Given the description of an element on the screen output the (x, y) to click on. 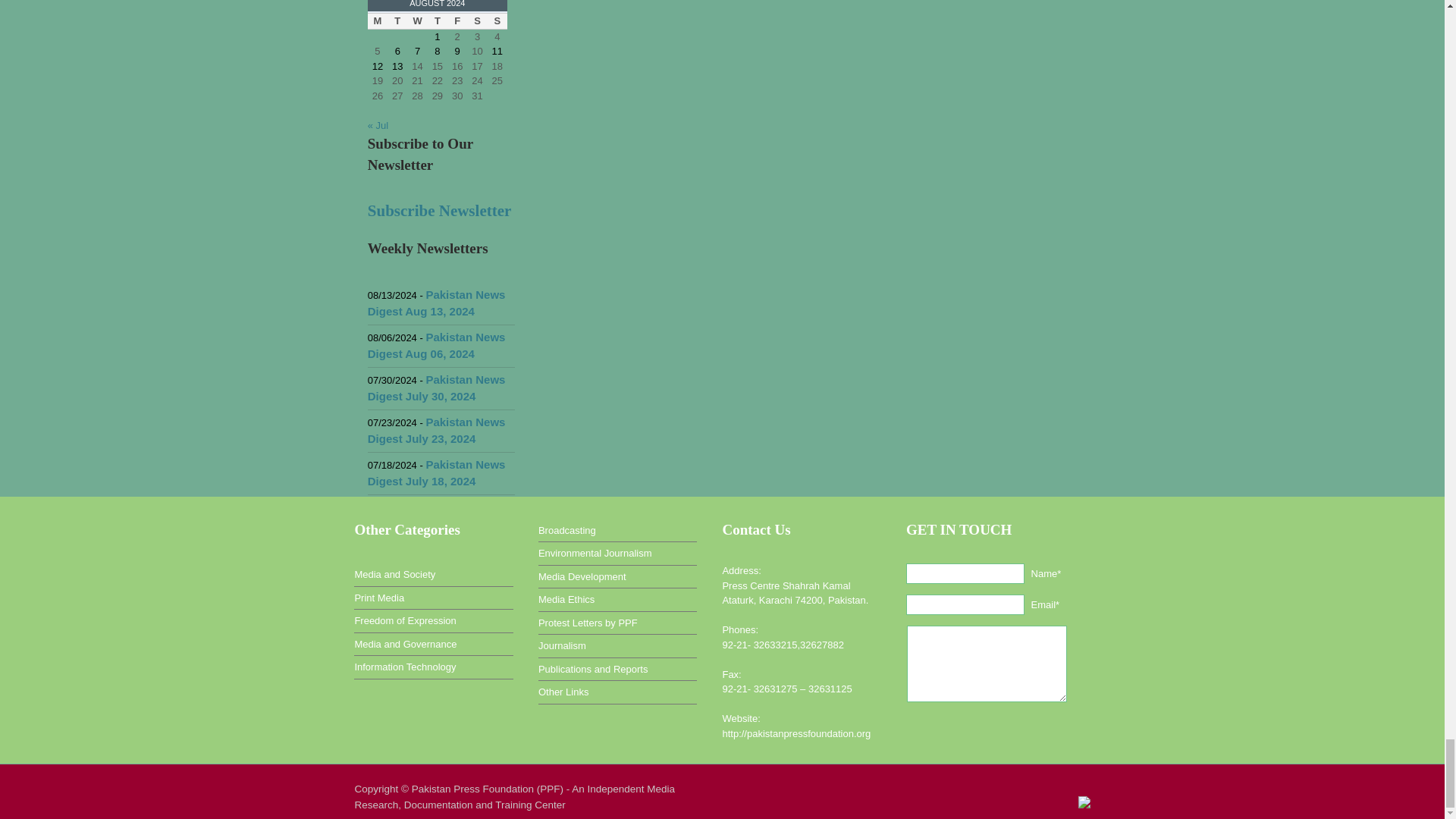
Thursday (437, 21)
Saturday (476, 21)
Sunday (496, 21)
Tuesday (397, 21)
Wednesday (416, 21)
Friday (456, 21)
Monday (377, 21)
